Given the description of an element on the screen output the (x, y) to click on. 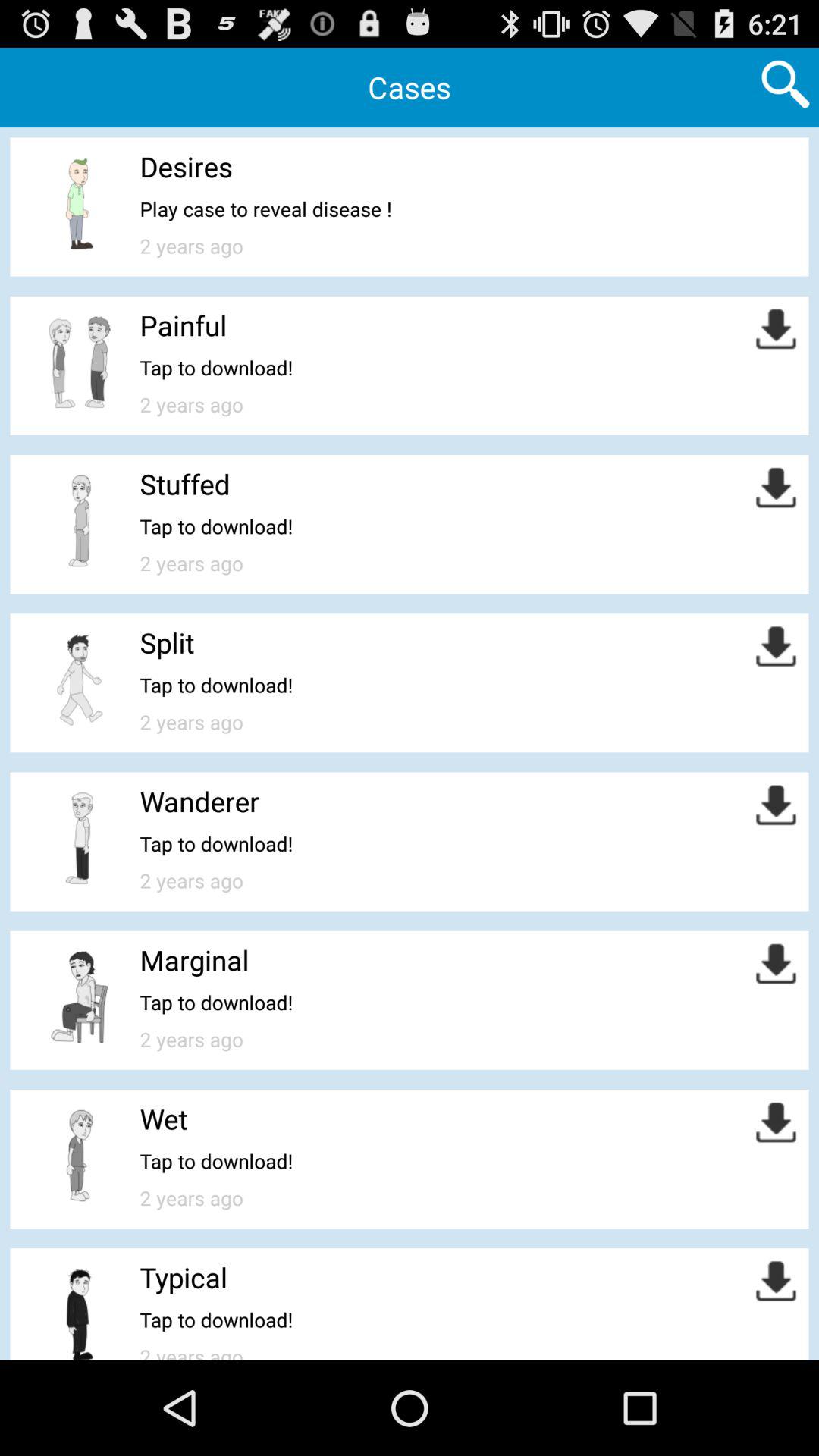
click on download icon on right side of wanderer text (775, 805)
click on the last option (80, 1307)
